Given the description of an element on the screen output the (x, y) to click on. 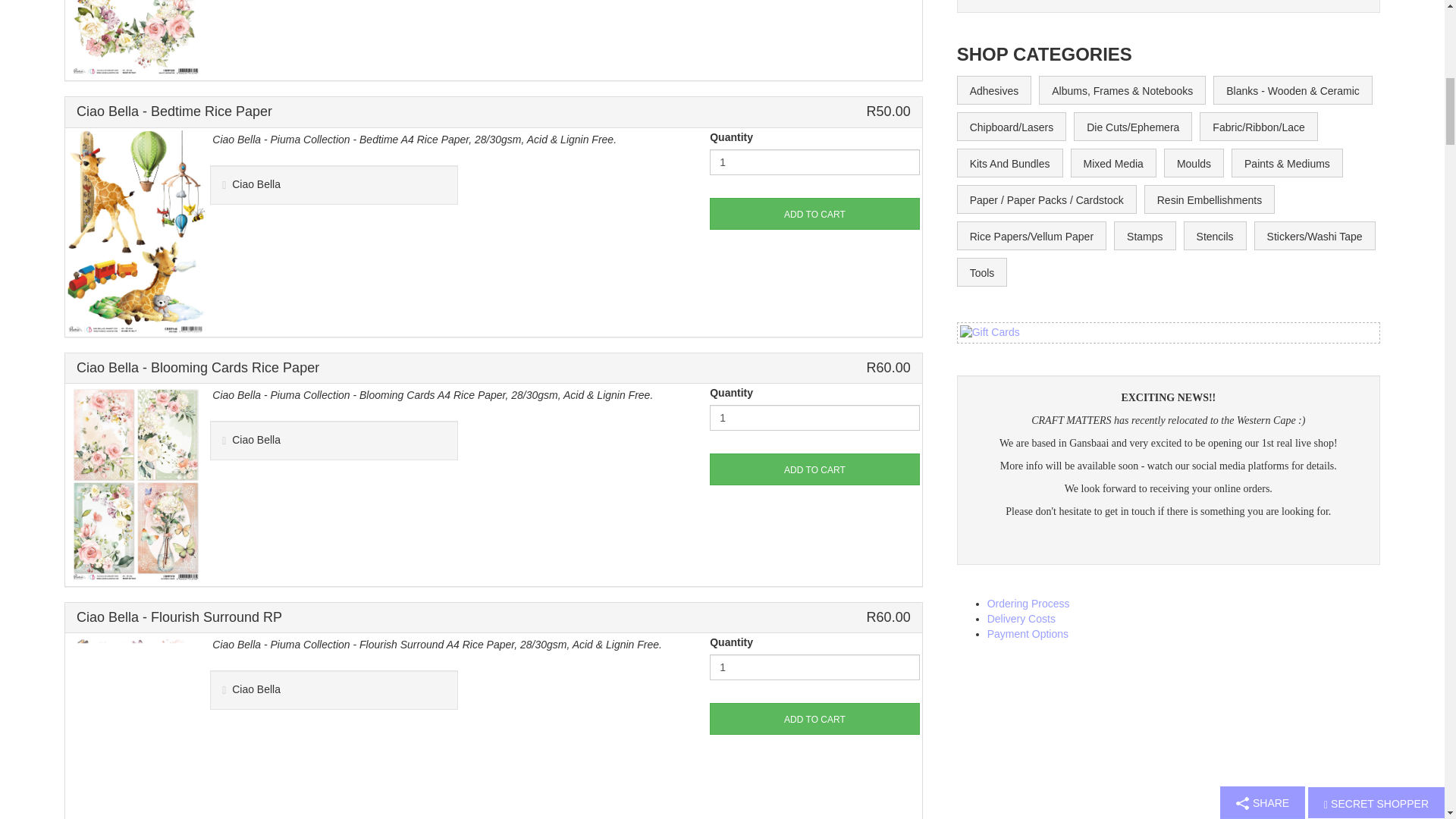
ADD TO CART (814, 469)
ADD TO CART (814, 214)
1 (814, 417)
Ciao Bella - Blooming Cards Rice Paper (135, 483)
1 (814, 162)
Ciao Bella - Flourish Surround RP (135, 733)
Ciao Bella - Bedtime Rice Paper (135, 231)
ADD TO CART (814, 718)
1 (814, 667)
